Given the description of an element on the screen output the (x, y) to click on. 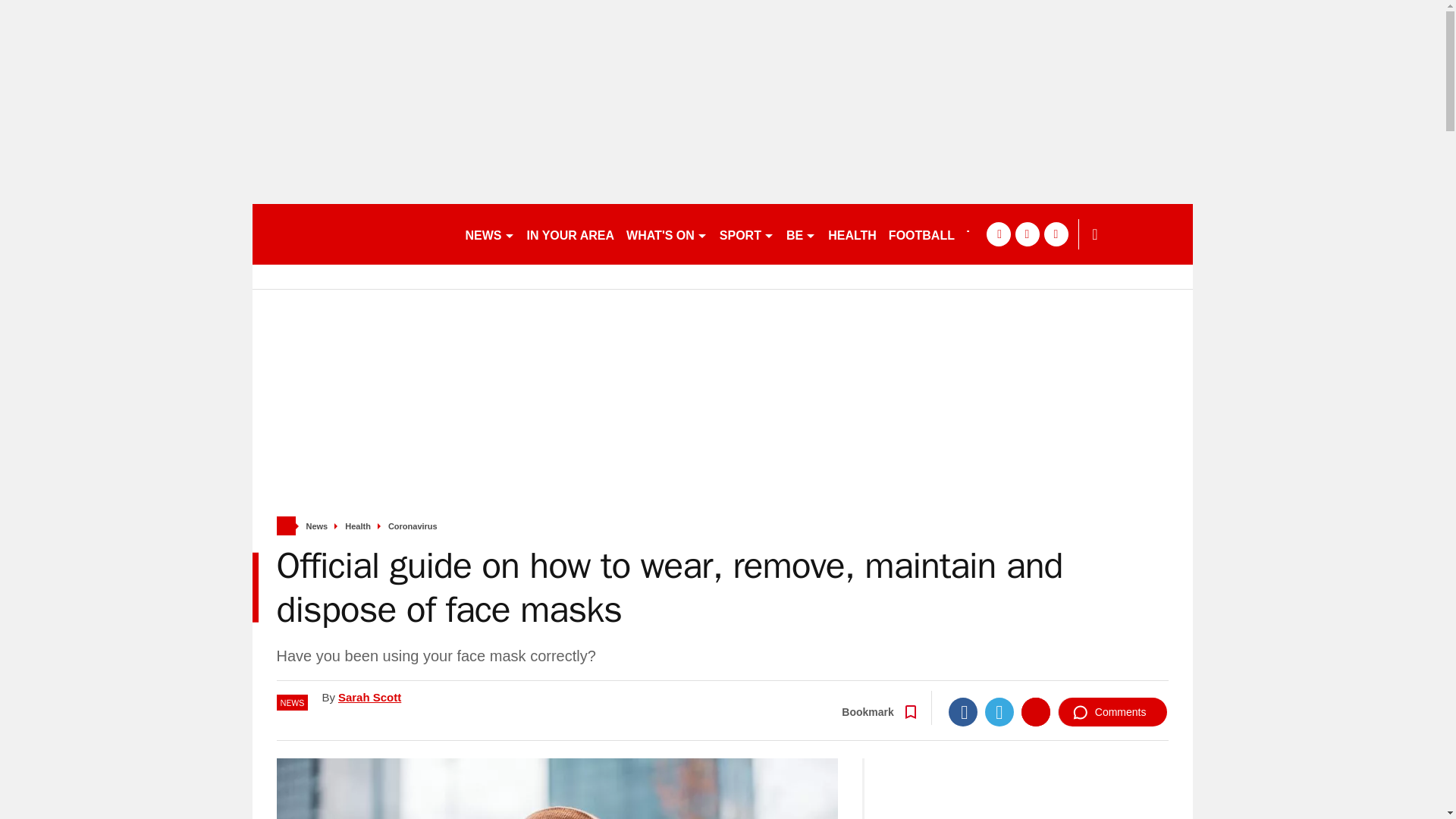
Comments (1112, 711)
WHAT'S ON (666, 233)
NEWS (490, 233)
belfastlive (351, 233)
facebook (997, 233)
instagram (1055, 233)
IN YOUR AREA (569, 233)
twitter (1026, 233)
Twitter (999, 711)
Facebook (962, 711)
